Given the description of an element on the screen output the (x, y) to click on. 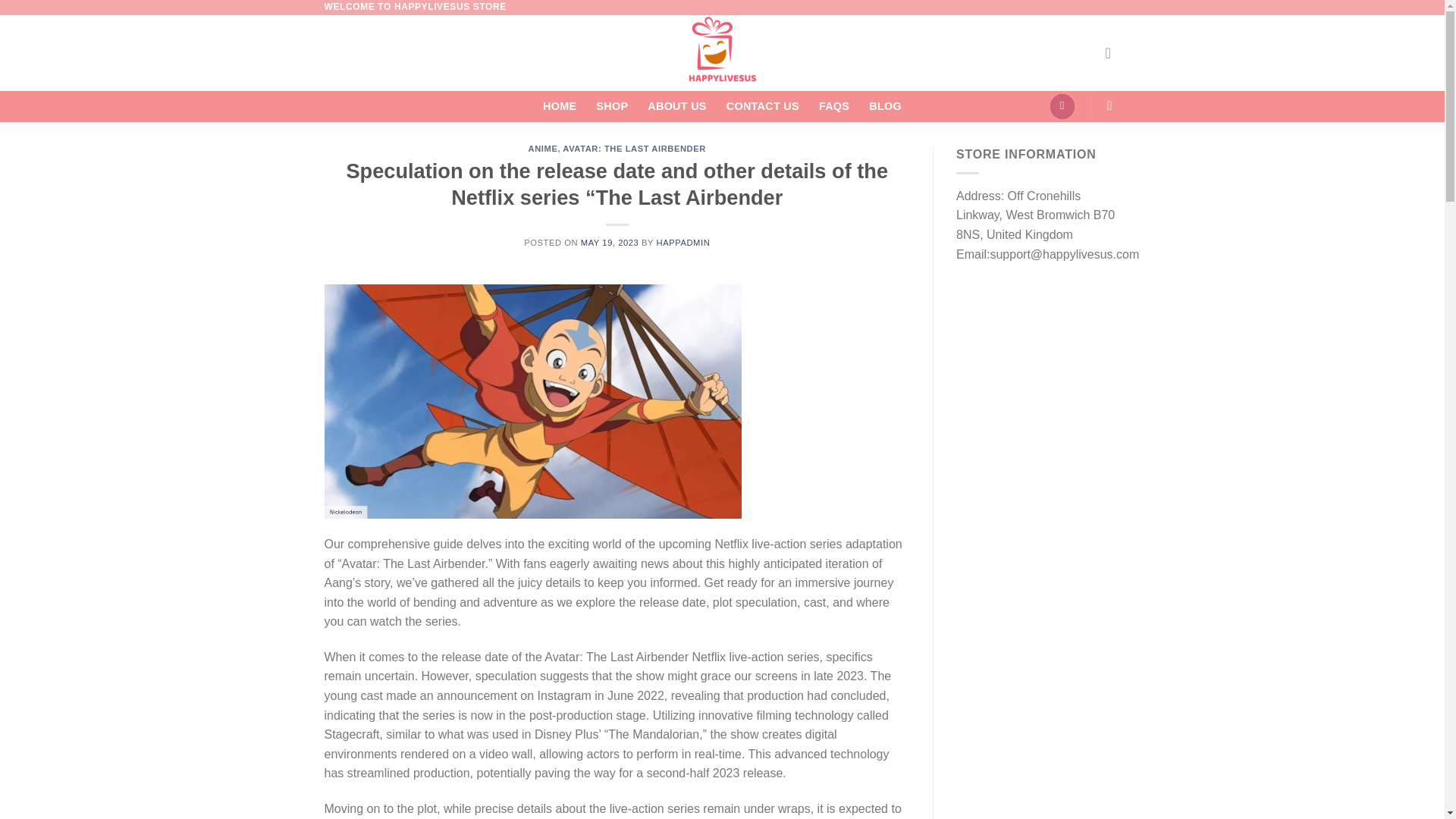
BLOG (885, 105)
FAQS (833, 105)
SHOP (611, 105)
ANIME (542, 148)
Happylivesus.com (722, 52)
MAY 19, 2023 (609, 242)
Cart (1061, 106)
ABOUT US (676, 105)
HOME (559, 105)
HAPPADMIN (683, 242)
